Given the description of an element on the screen output the (x, y) to click on. 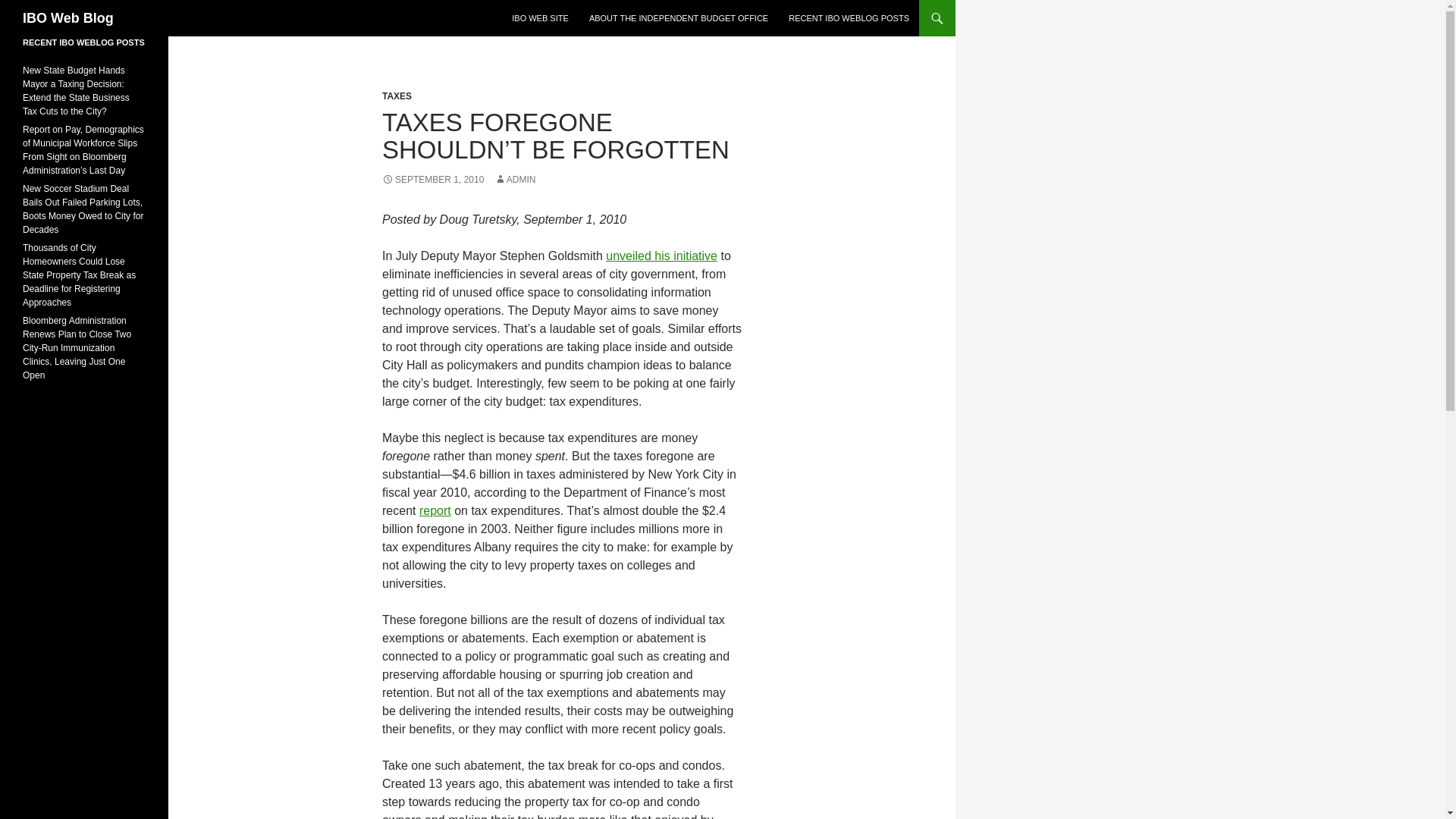
unveiled his initiative (661, 255)
report (435, 510)
SEPTEMBER 1, 2010 (432, 179)
IBO Web Blog (68, 18)
ADMIN (515, 179)
RECENT IBO WEBLOG POSTS (848, 18)
ABOUT THE INDEPENDENT BUDGET OFFICE (678, 18)
TAXES (396, 95)
IBO WEB SITE (540, 18)
